Given the description of an element on the screen output the (x, y) to click on. 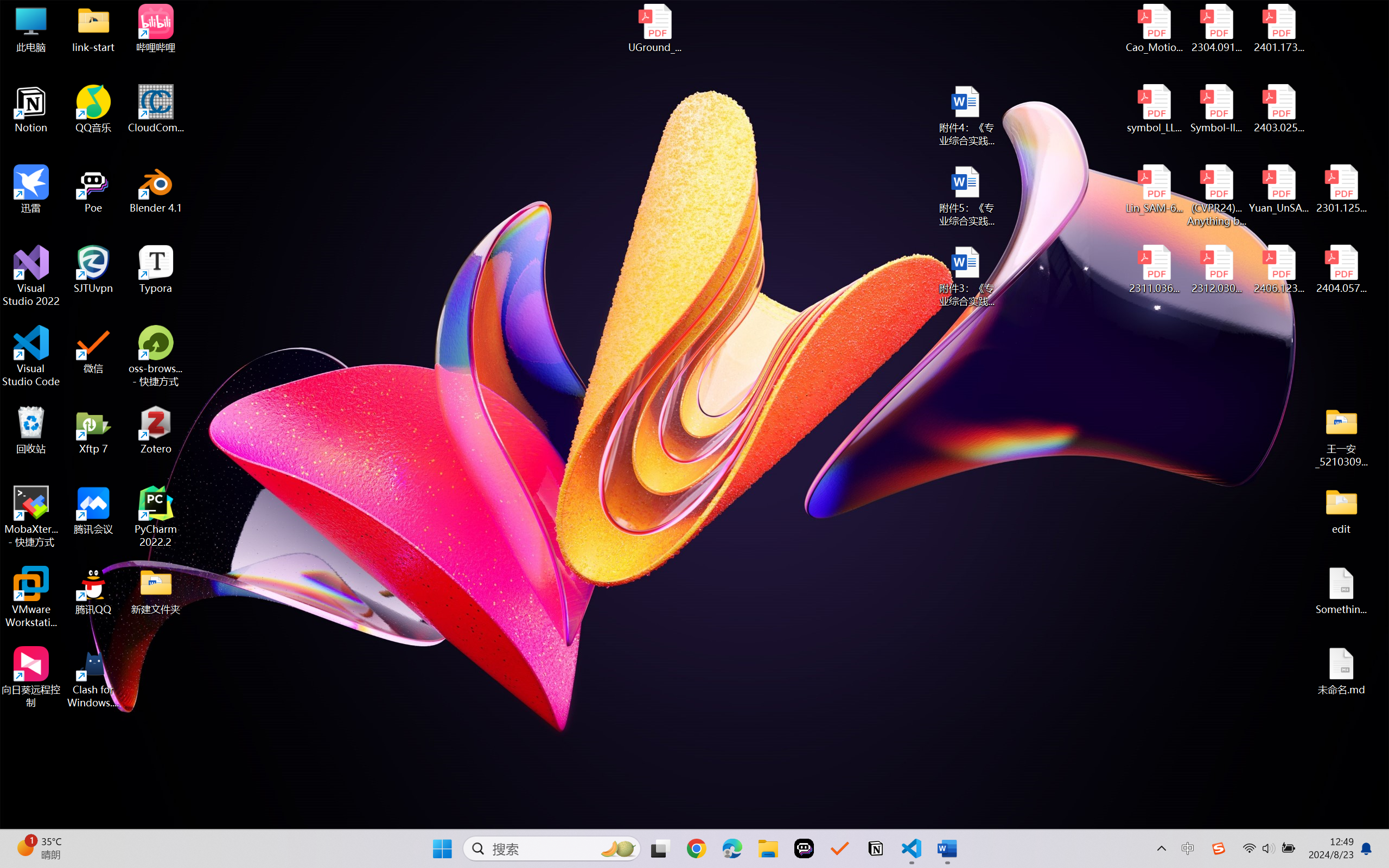
CloudCompare (156, 109)
2403.02502v1.pdf (1278, 109)
2301.12597v3.pdf (1340, 189)
Visual Studio 2022 (31, 276)
